Given the description of an element on the screen output the (x, y) to click on. 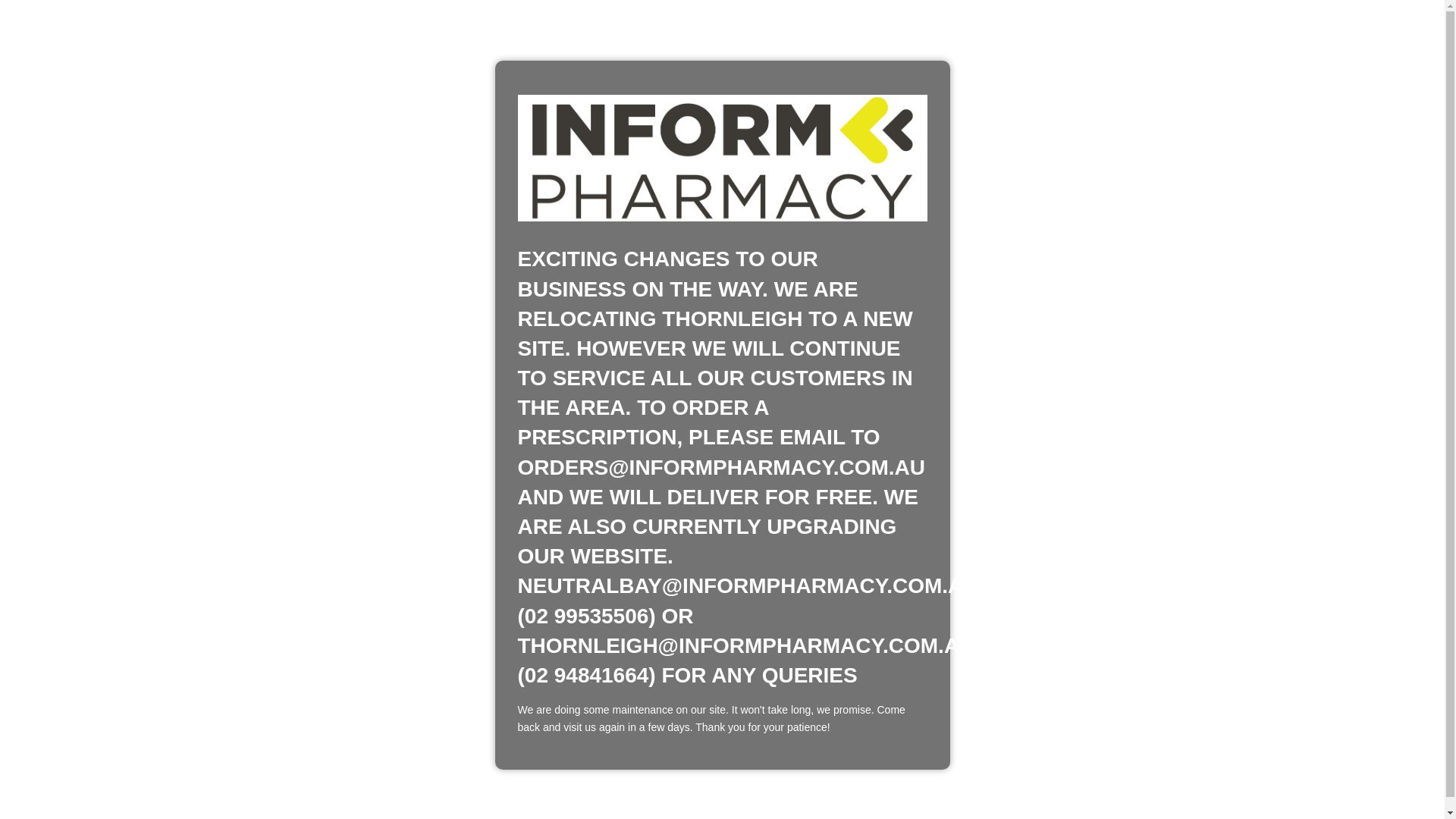
Inform Compounding Pharmacy Element type: hover (721, 157)
